Given the description of an element on the screen output the (x, y) to click on. 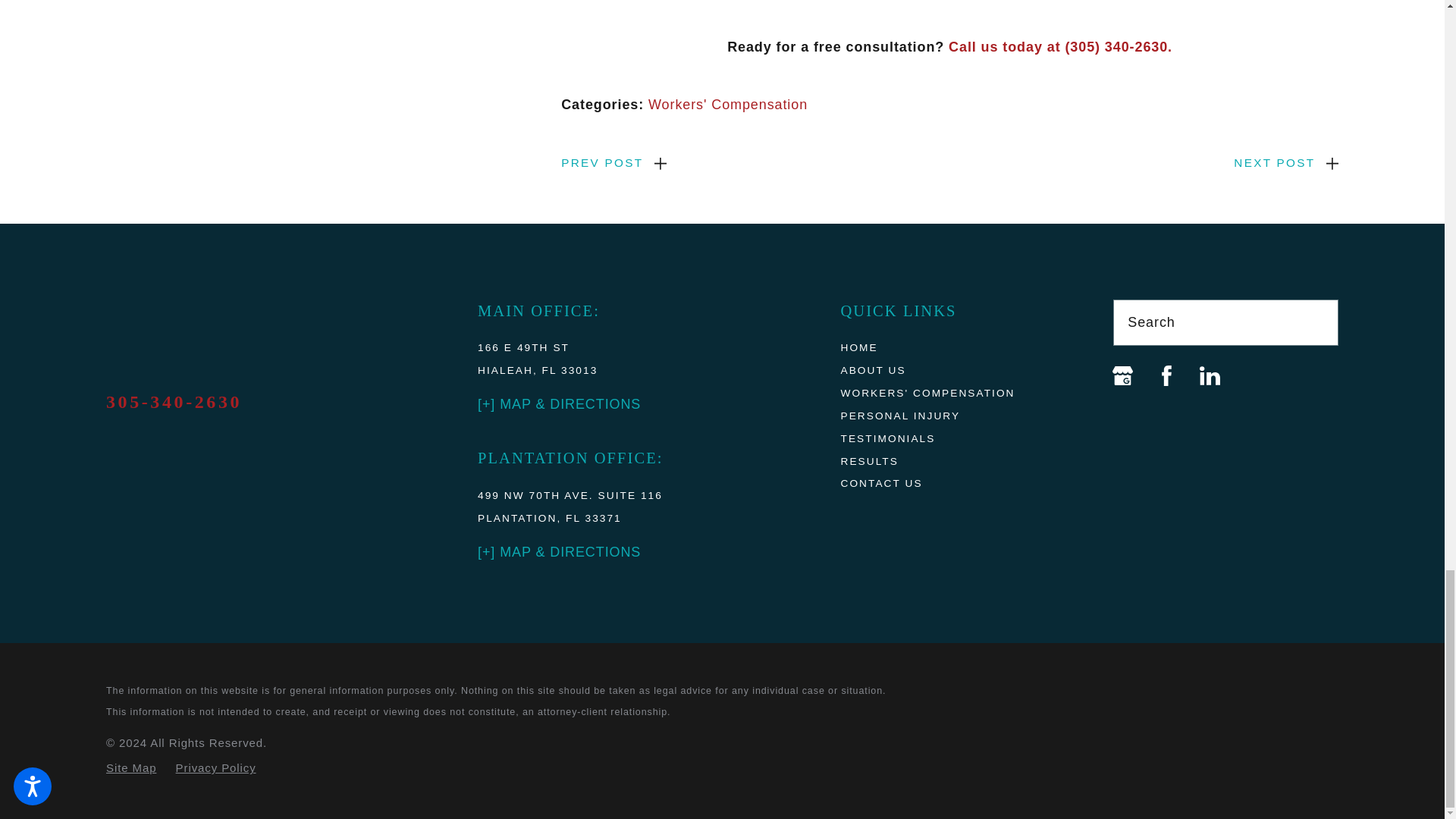
Facebook (1166, 375)
Search Our Site (1316, 322)
Google Business Profile (1122, 375)
